Given the description of an element on the screen output the (x, y) to click on. 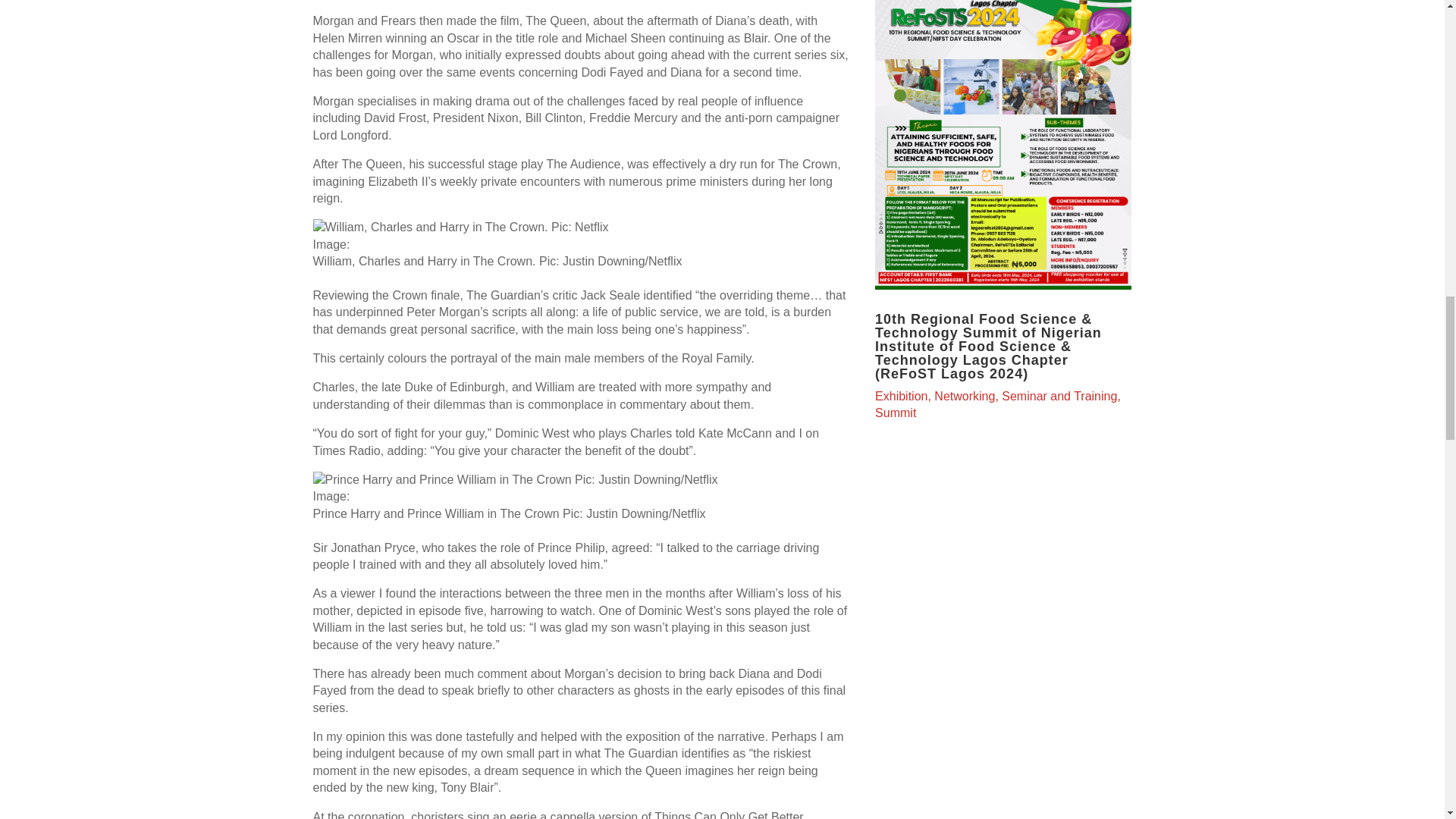
Seminar and Training (1058, 395)
Exhibition (901, 395)
Networking (964, 395)
Summit (895, 412)
